Given the description of an element on the screen output the (x, y) to click on. 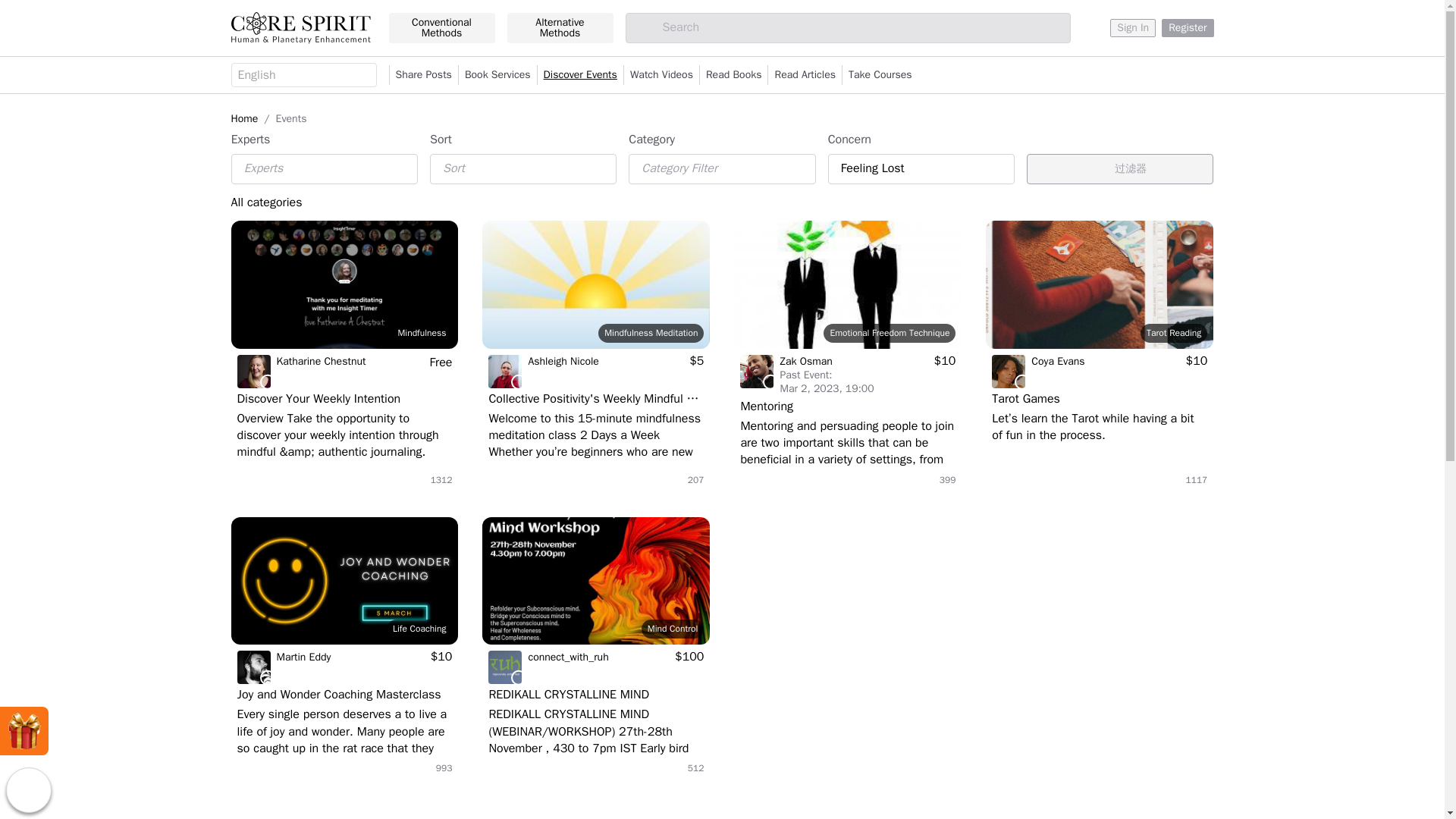
Sign In (1132, 27)
Share Posts (423, 75)
Conventional Methods (441, 28)
Book Services (497, 75)
Back to top (27, 790)
Alternative Methods (559, 28)
Register (1186, 27)
